Given the description of an element on the screen output the (x, y) to click on. 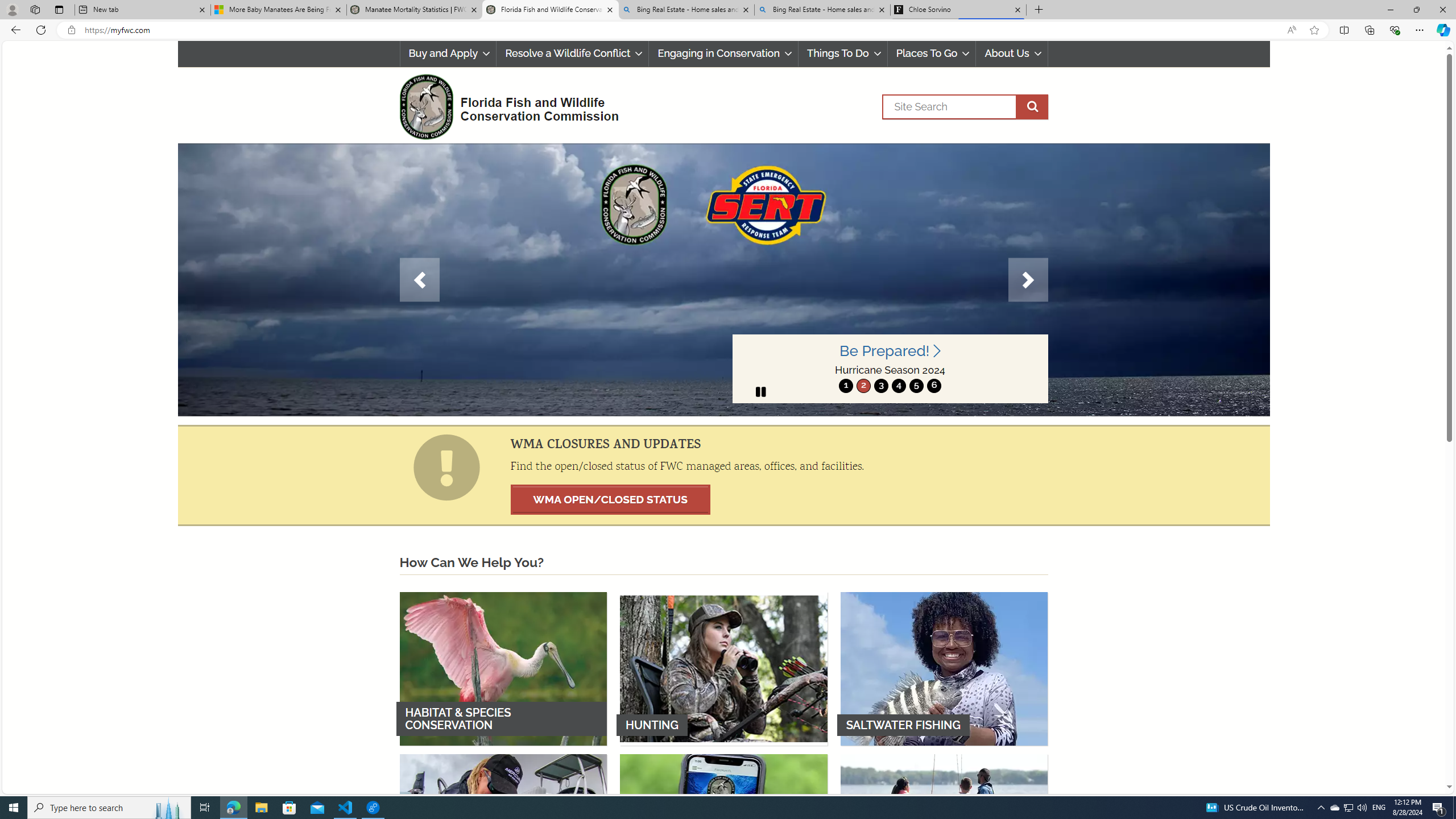
Engaging in Conservation (723, 53)
2 (863, 385)
Chloe Sorvino (957, 9)
Places To Go (931, 53)
1 (845, 385)
Florida Fish and Wildlife Conservation Commission | FWC (550, 9)
About Us (1011, 53)
move to slide 6 (933, 385)
Bing Real Estate - Home sales and rental listings (822, 9)
Resolve a Wildlife Conflict (572, 53)
move to slide 5 (916, 385)
